Given the description of an element on the screen output the (x, y) to click on. 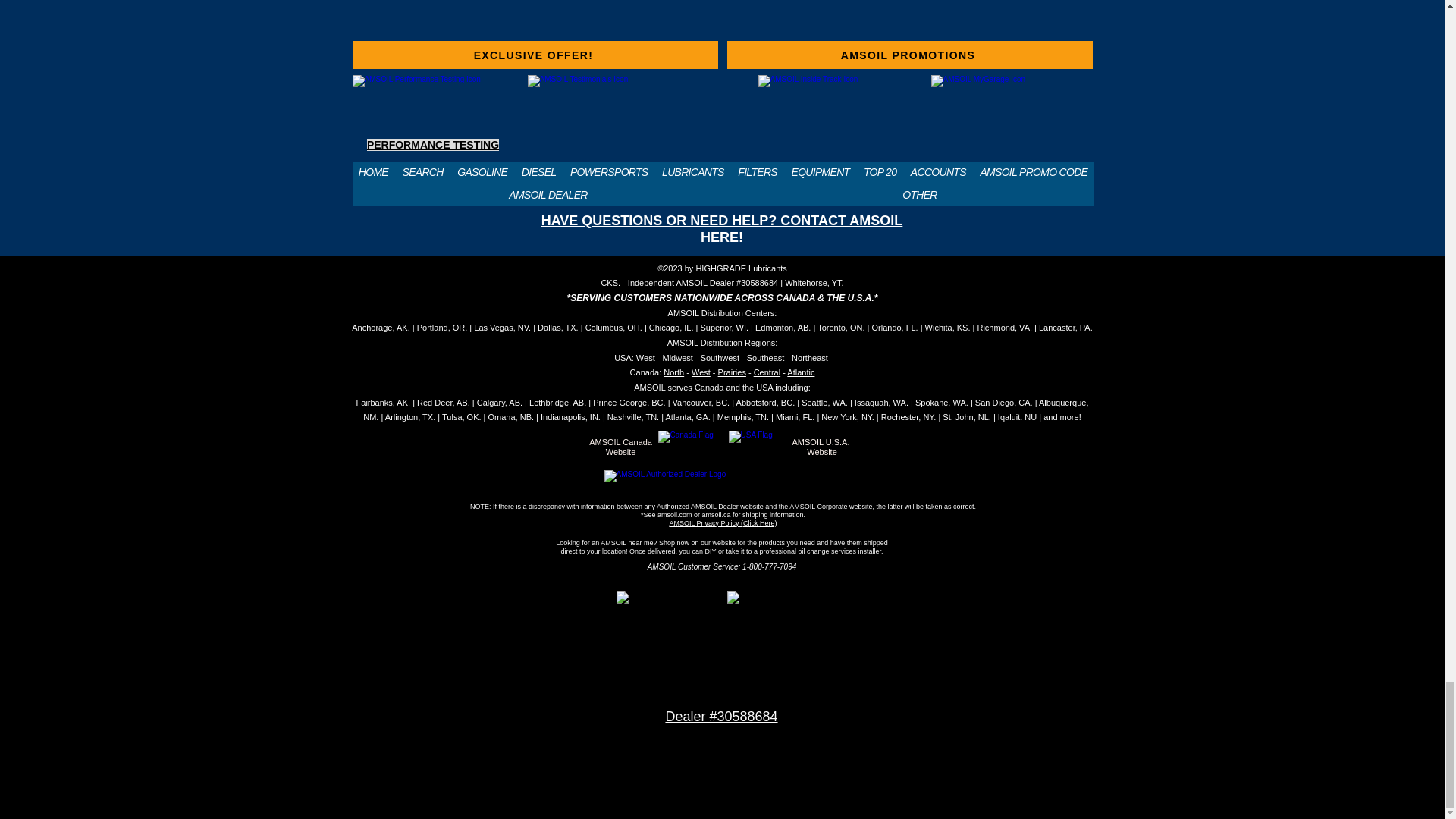
AMSOIL Testimonials Icon (638, 115)
Canada Flag (690, 446)
AMSOIL Performance Testing Icon (432, 115)
AMSOIL Inside Track Icon (839, 115)
AMSOIL MyGarage Icon (1012, 115)
AMS OIL Change Oil Less Often Banner (722, 17)
